Given the description of an element on the screen output the (x, y) to click on. 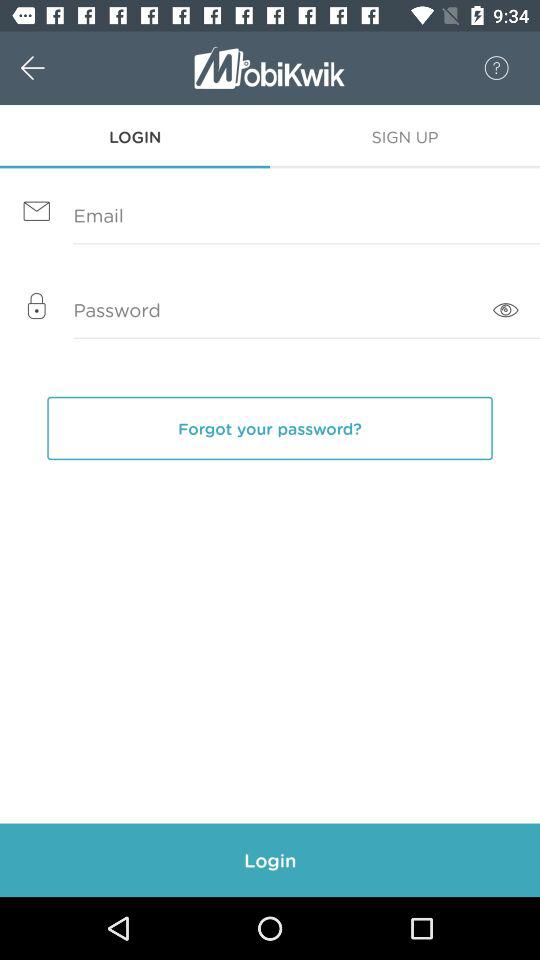
go to email (270, 216)
